Given the description of an element on the screen output the (x, y) to click on. 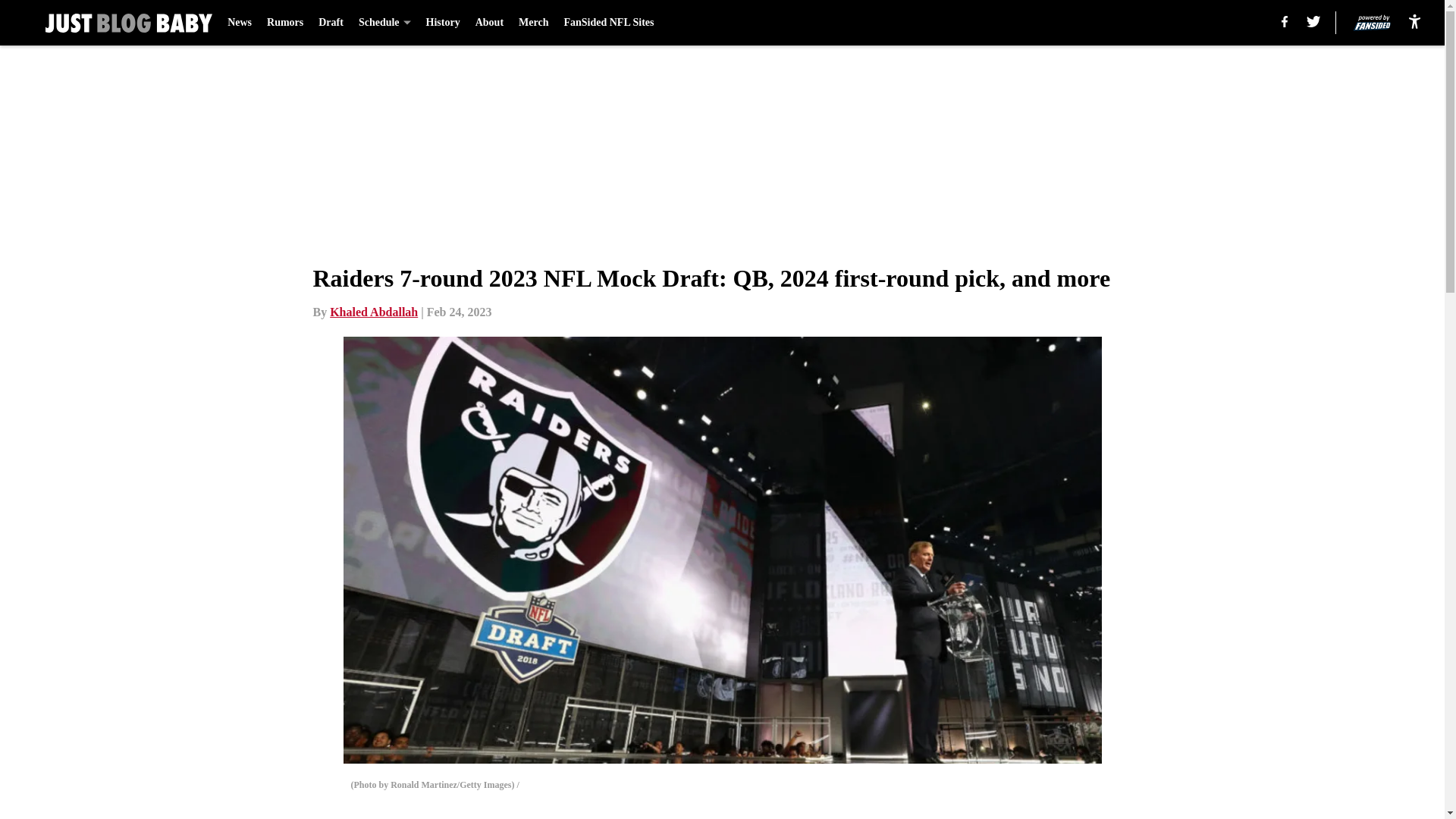
News (239, 22)
Rumors (284, 22)
Khaled Abdallah (373, 311)
FanSided NFL Sites (608, 22)
About (489, 22)
Merch (533, 22)
Draft (330, 22)
History (443, 22)
